Given the description of an element on the screen output the (x, y) to click on. 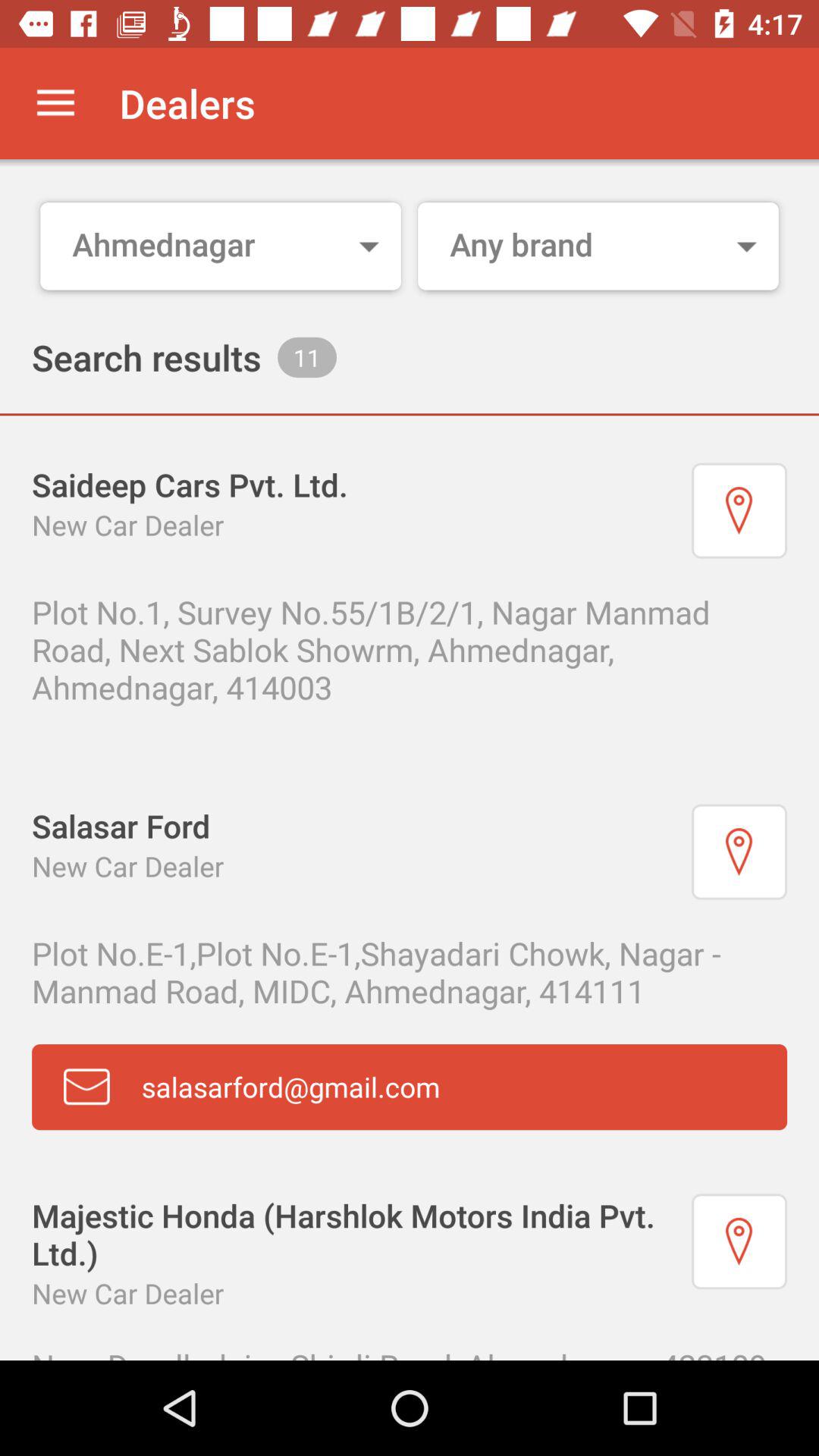
go to map (739, 510)
